Given the description of an element on the screen output the (x, y) to click on. 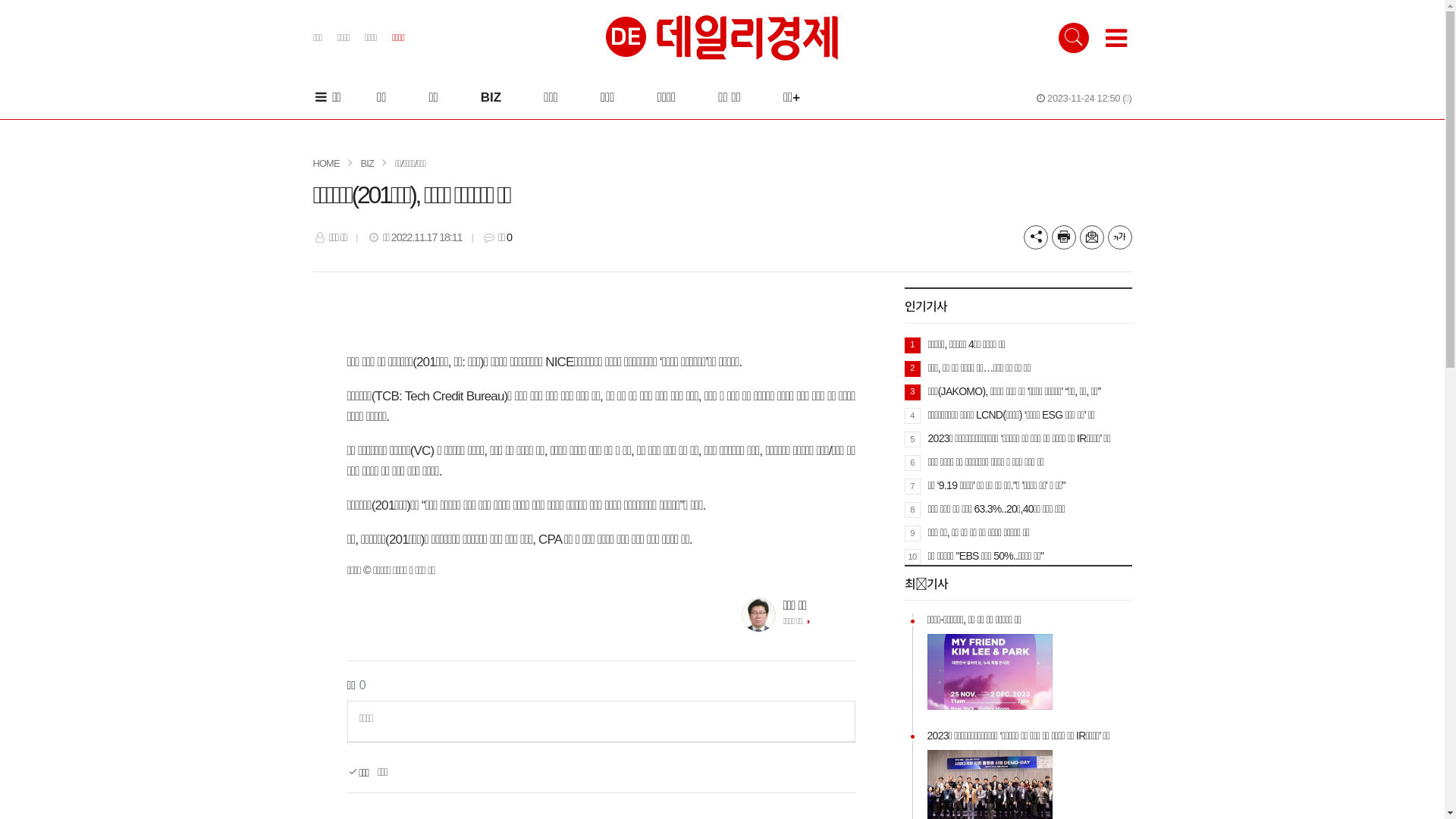
0 Element type: text (508, 237)
HOME Element type: text (325, 163)
BIZ Element type: text (367, 163)
BIZ Element type: text (490, 97)
